Given the description of an element on the screen output the (x, y) to click on. 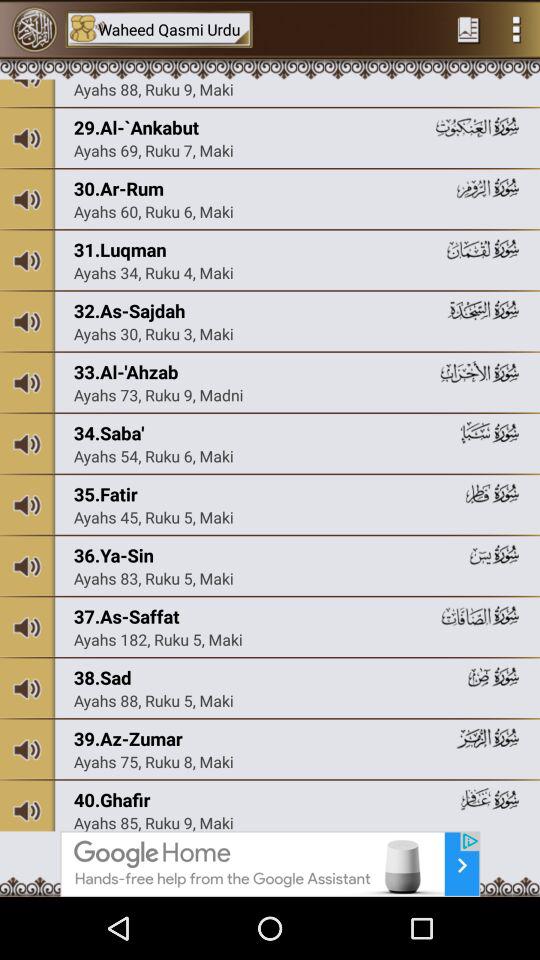
bookmark page (468, 29)
